Given the description of an element on the screen output the (x, y) to click on. 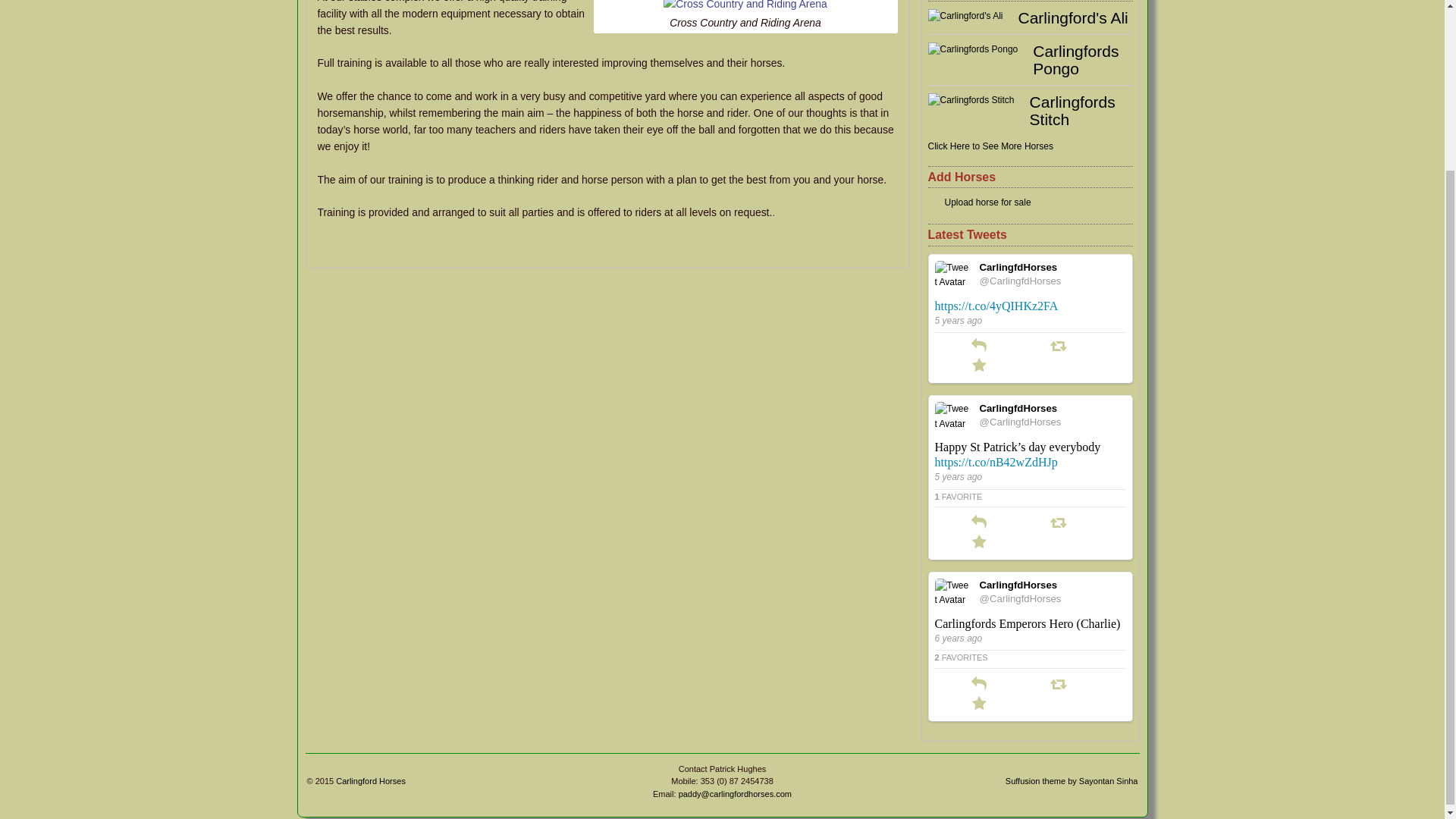
Carlingford's Ali (1071, 17)
Carlingfords Pongo (972, 49)
6 years ago (957, 638)
Favorite (979, 367)
Carlingfords Stitch (1072, 110)
Carlingfords Pongo (1075, 59)
5 years ago (957, 320)
View Tweet on Twitter (1029, 496)
5 years ago (957, 476)
Carlingford's Ali (1071, 17)
